Given the description of an element on the screen output the (x, y) to click on. 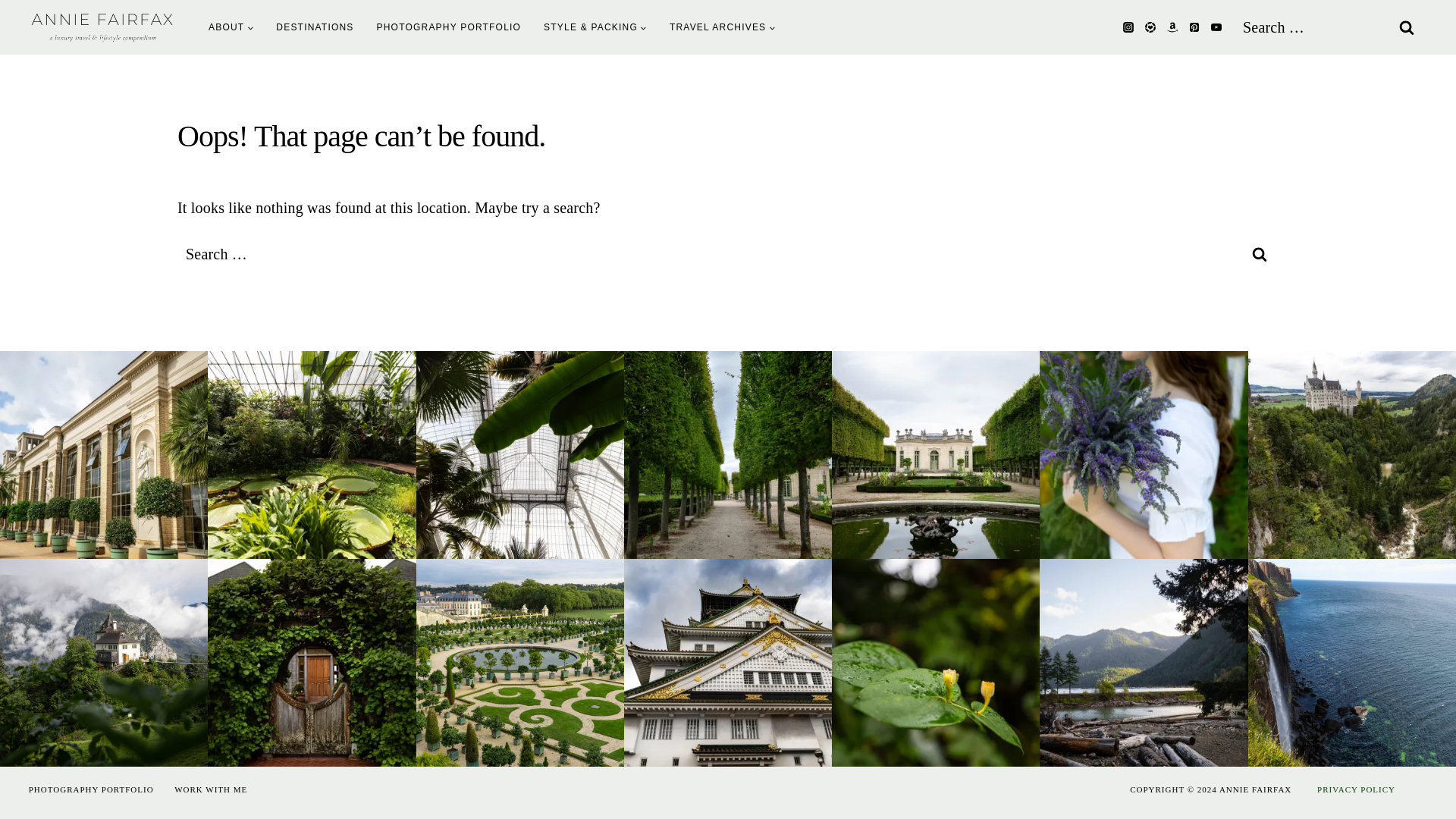
Search (1406, 26)
Search (1406, 26)
DESTINATIONS (314, 27)
TRAVEL ARCHIVES (722, 27)
Search (1259, 253)
ABOUT (230, 27)
PHOTOGRAPHY PORTFOLIO (448, 27)
Search (1259, 253)
